Given the description of an element on the screen output the (x, y) to click on. 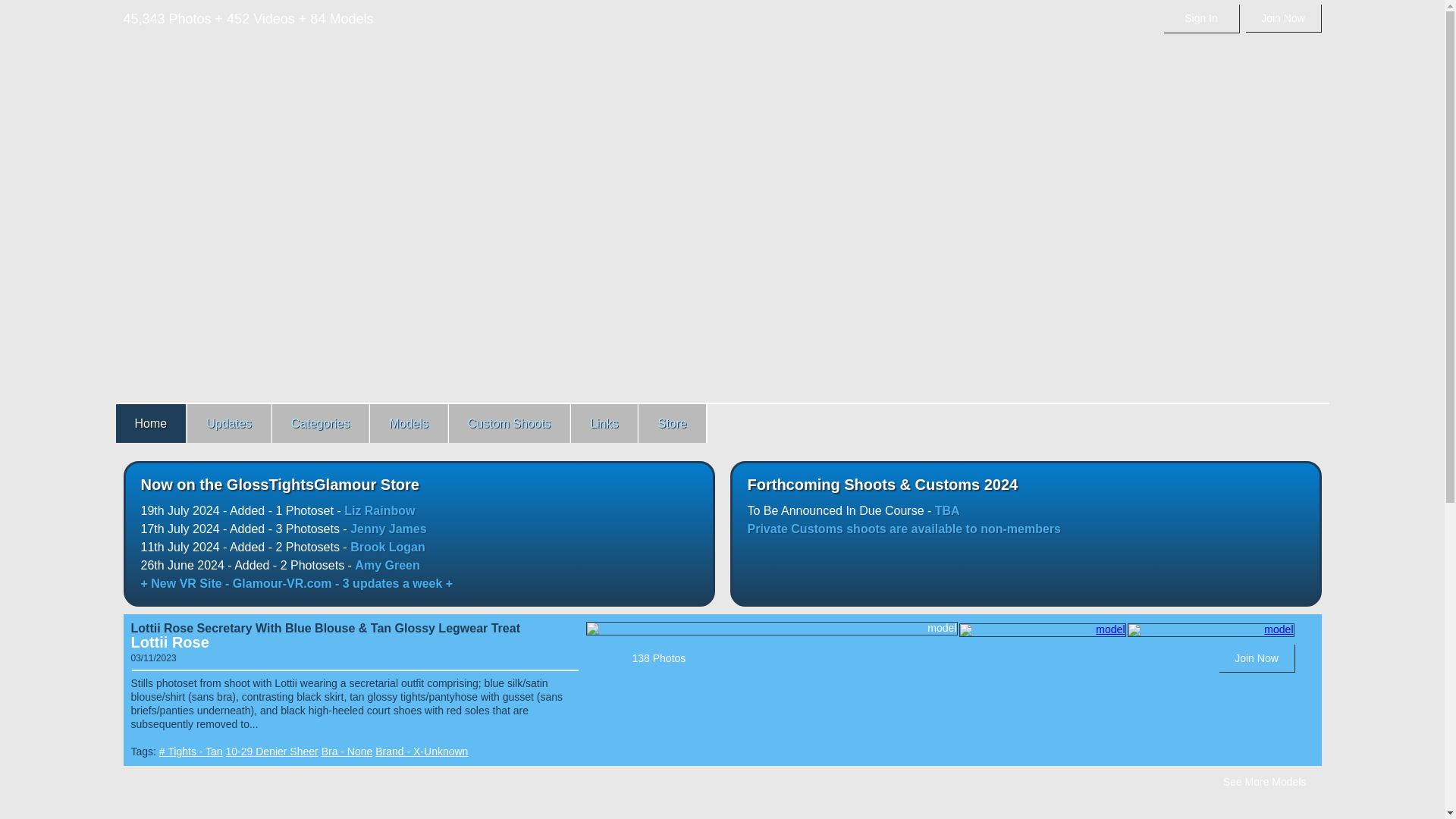
Jenny James (388, 528)
Custom Shoots (509, 423)
Amy Green (387, 564)
See More Models (1265, 781)
Liz Rainbow (378, 510)
Store (671, 423)
TBA (946, 510)
Brook Logan (387, 546)
10-29 Denier Sheer (271, 751)
Links (603, 423)
Updates (228, 423)
Private Customs shoots are available to non-members (904, 528)
Brand - X-Unknown (421, 751)
Home (150, 423)
Models (408, 423)
